Given the description of an element on the screen output the (x, y) to click on. 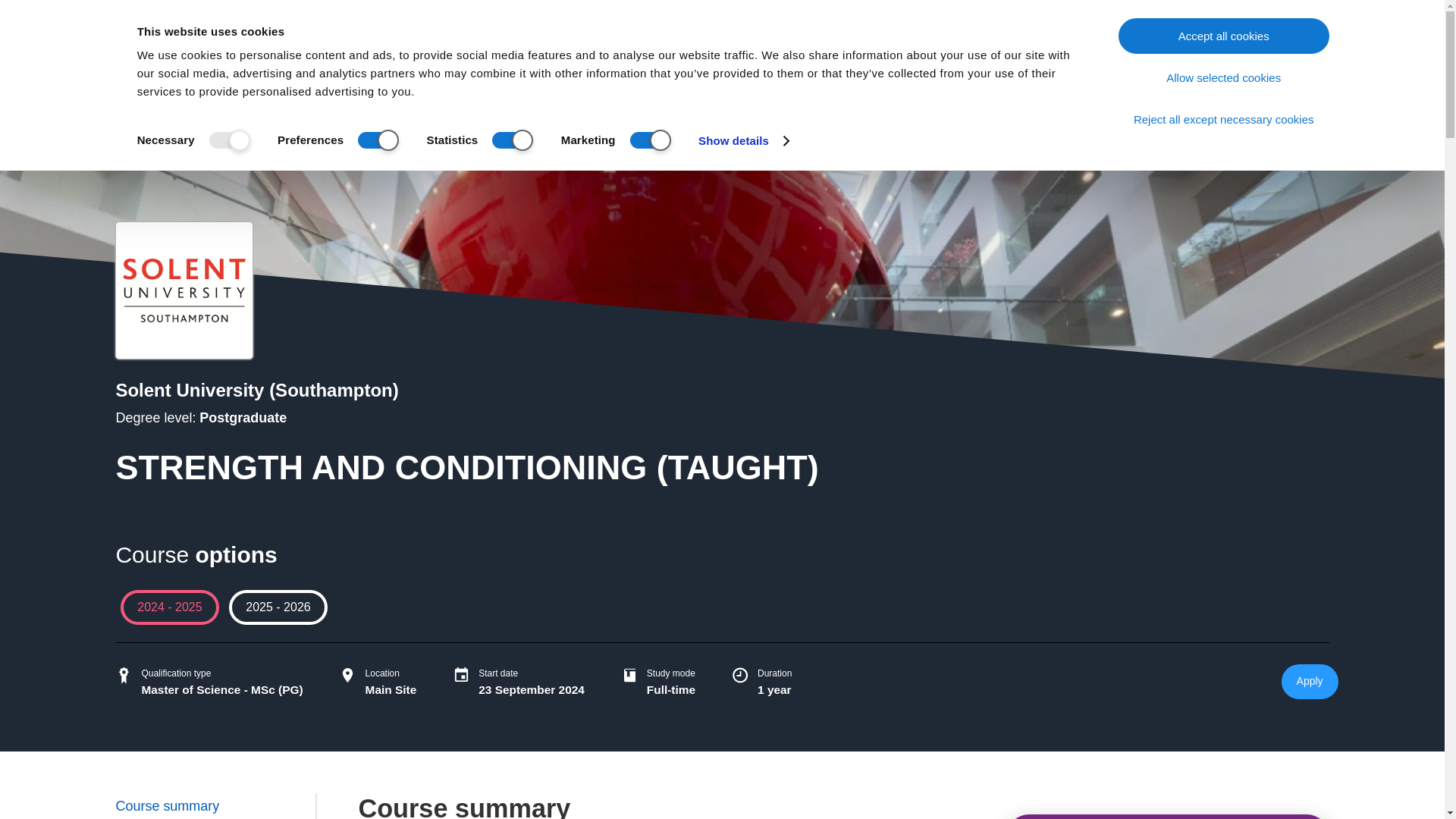
Show details (742, 140)
